Given the description of an element on the screen output the (x, y) to click on. 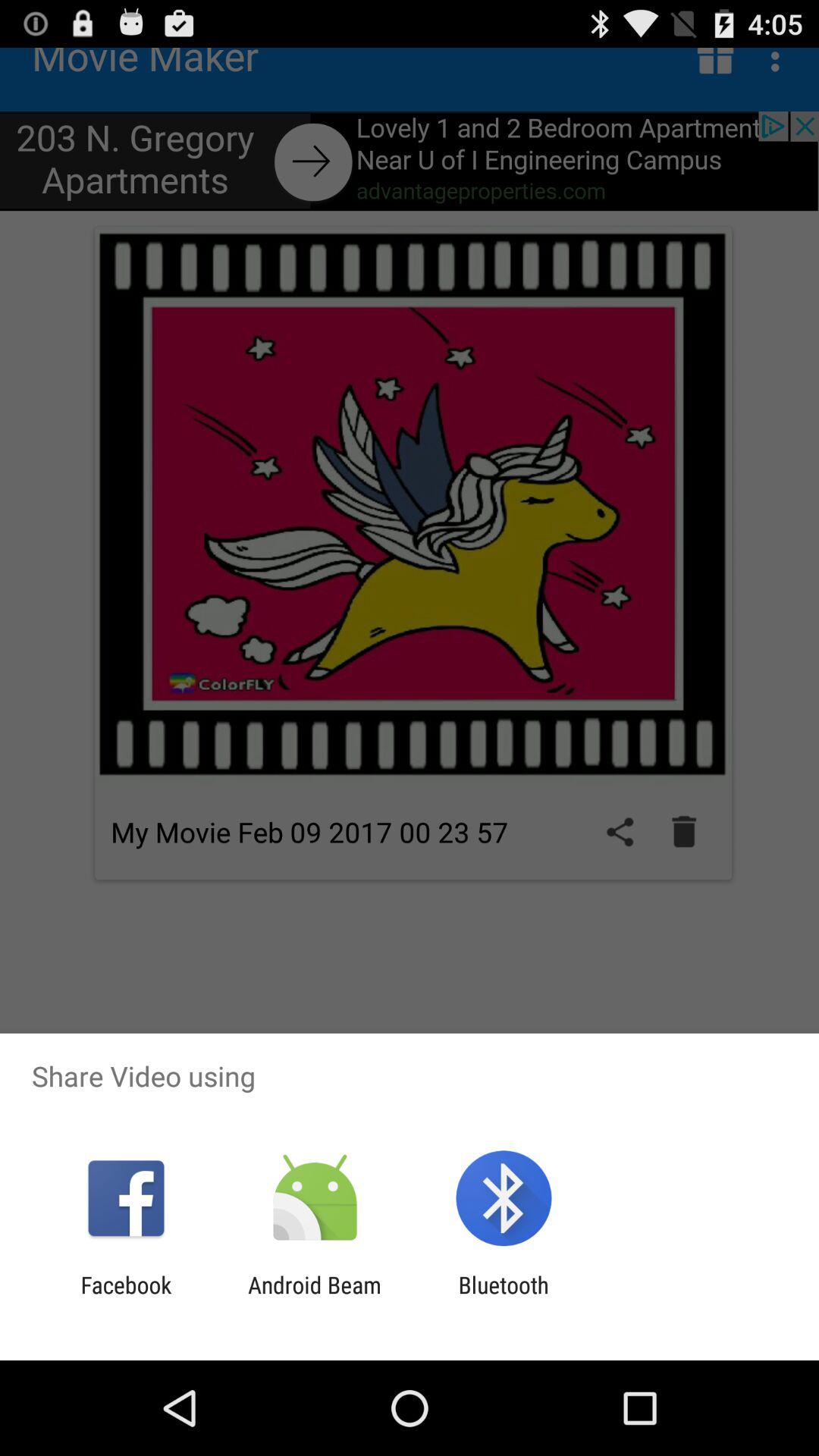
click icon to the left of android beam icon (125, 1298)
